Given the description of an element on the screen output the (x, y) to click on. 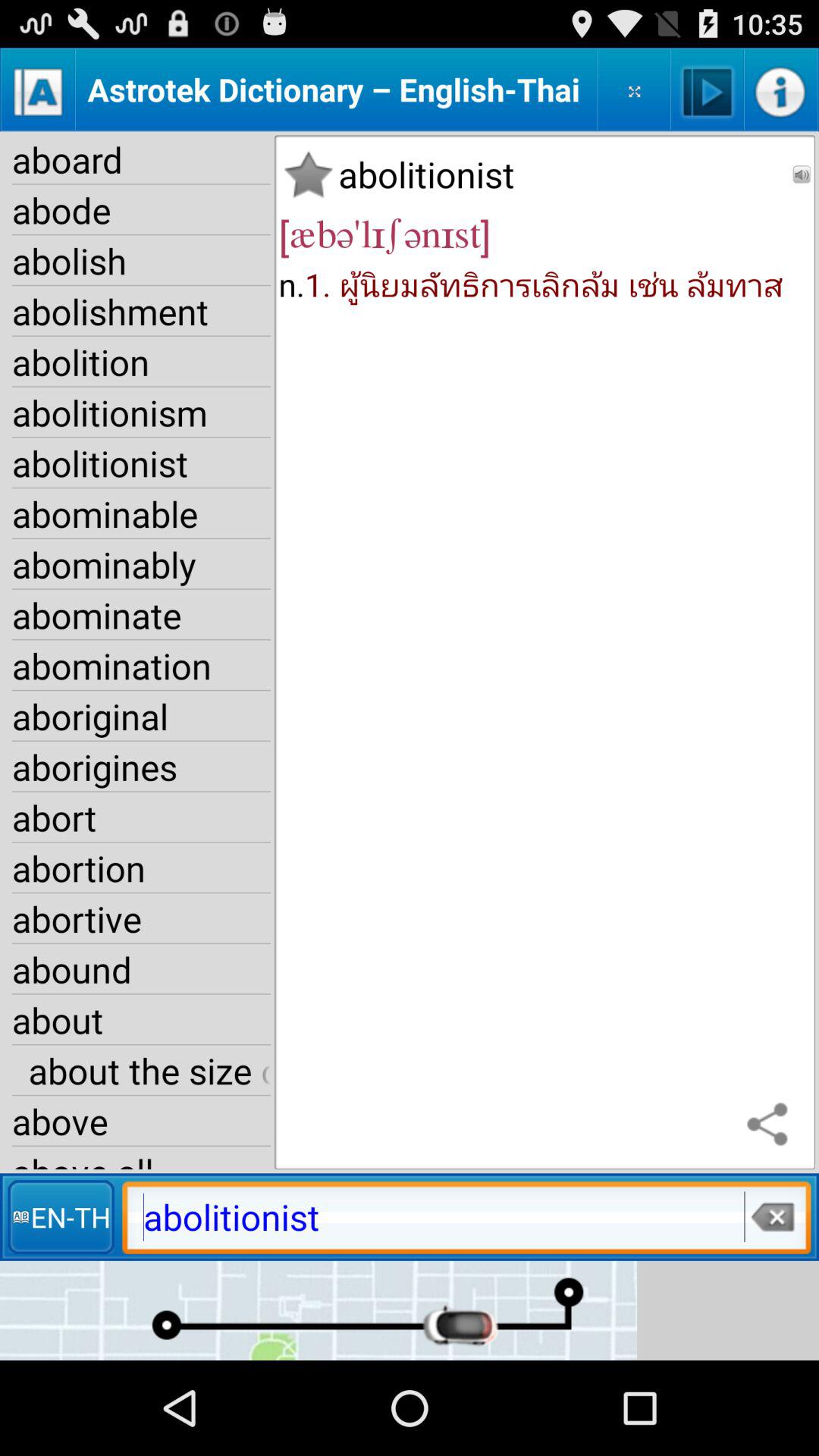
click app to the left of the abolitionist icon (308, 174)
